Given the description of an element on the screen output the (x, y) to click on. 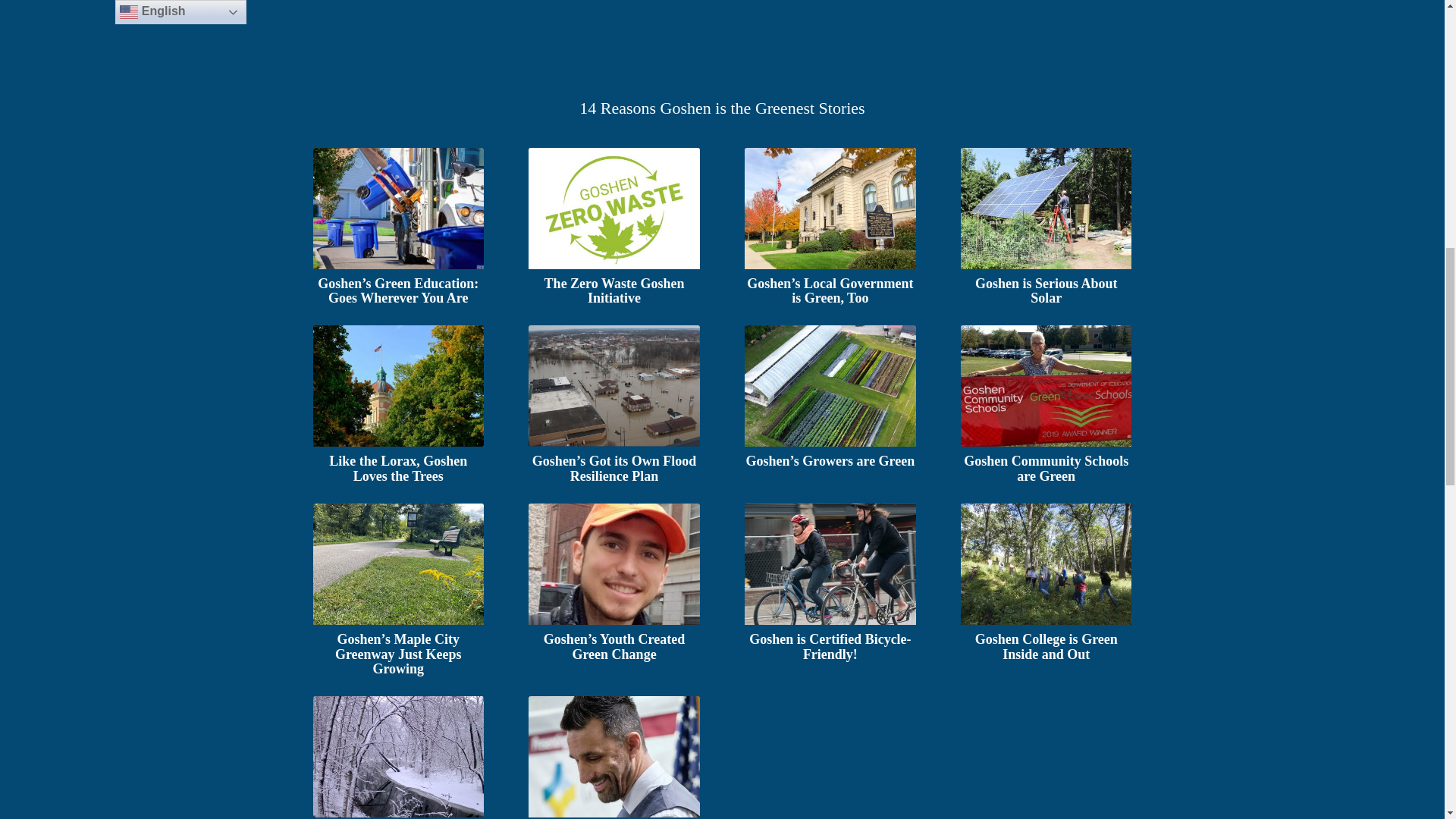
Like the Lorax, Goshen Loves the Trees (398, 385)
Like the Lorax, Goshen Loves the Trees (398, 468)
The Zero Waste Goshen Initiative (613, 208)
Goshen Community Schools are Green (1045, 468)
Goshen is Serious About Solar (1045, 208)
Goshen Community Schools are Green (1045, 385)
The Zero Waste Goshen Initiative (614, 291)
Goshen is Serious About Solar (1046, 291)
